Given the description of an element on the screen output the (x, y) to click on. 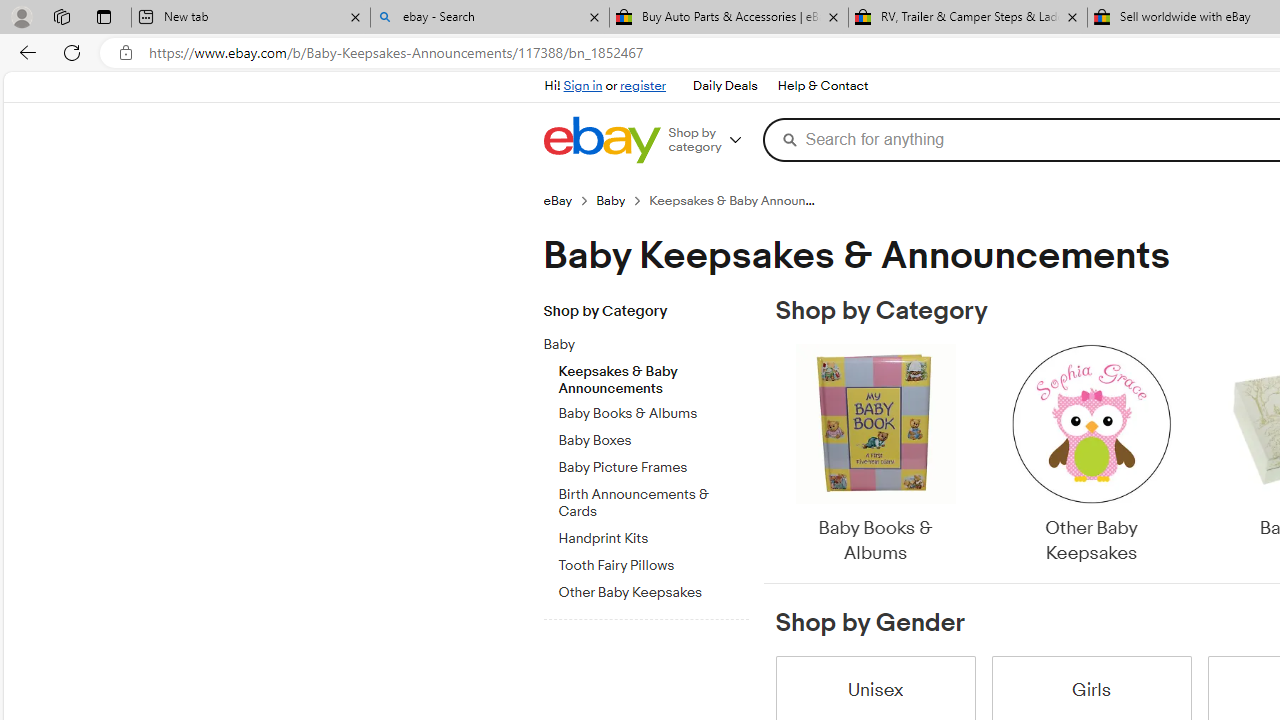
Tooth Fairy Pillows (653, 566)
Sign in (582, 85)
Baby (637, 345)
Baby Books & Albums (874, 455)
Keepsakes & Baby Announcements (653, 375)
Go to previous slide (775, 455)
Baby Boxes (653, 441)
eBay (569, 200)
Handprint Kits (653, 535)
Handprint Kits (653, 538)
Birth Announcements & Cards (653, 504)
